Given the description of an element on the screen output the (x, y) to click on. 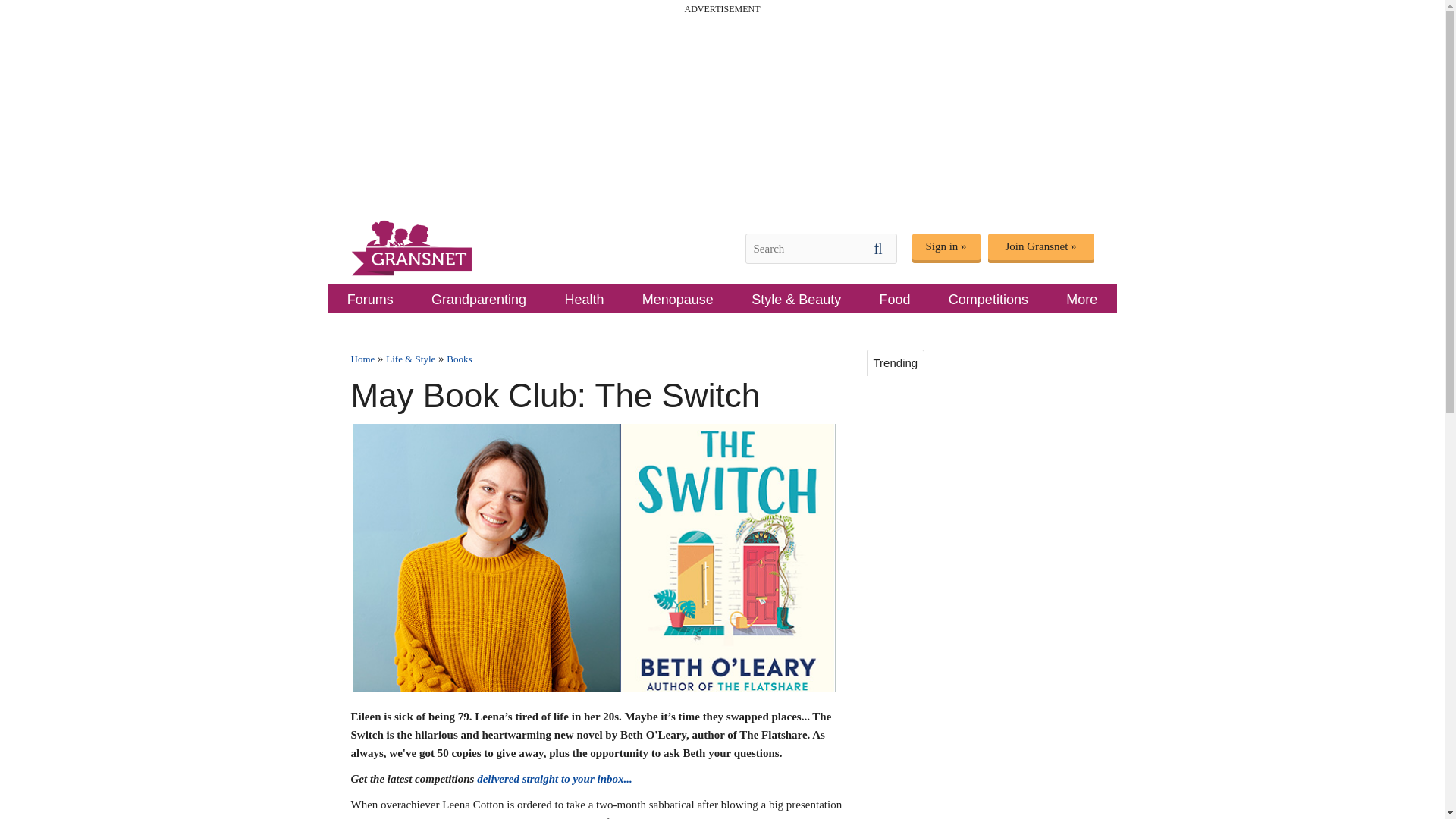
delivered straight to your inbox... (554, 778)
Join Gransnet (1040, 246)
Menopause (677, 298)
Grandparenting (478, 298)
More (1081, 298)
Sign in to Gransnet (945, 246)
Books (458, 358)
Health (583, 298)
Forums (369, 298)
Food (895, 298)
